Given the description of an element on the screen output the (x, y) to click on. 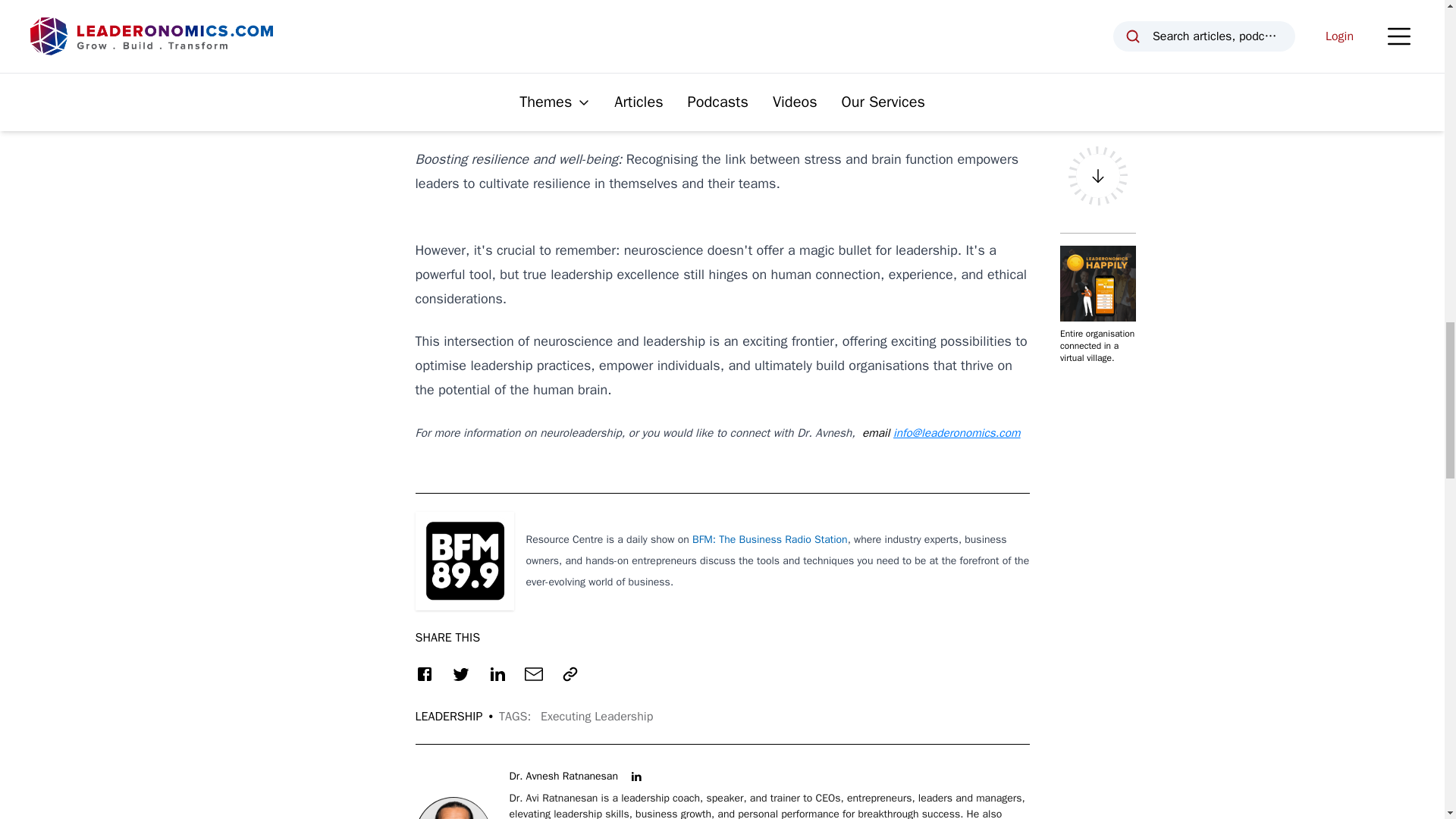
Dr. Avnesh Ratnanesan (563, 776)
BFM: The Business Radio Station (770, 539)
Executing Leadership (596, 716)
